Given the description of an element on the screen output the (x, y) to click on. 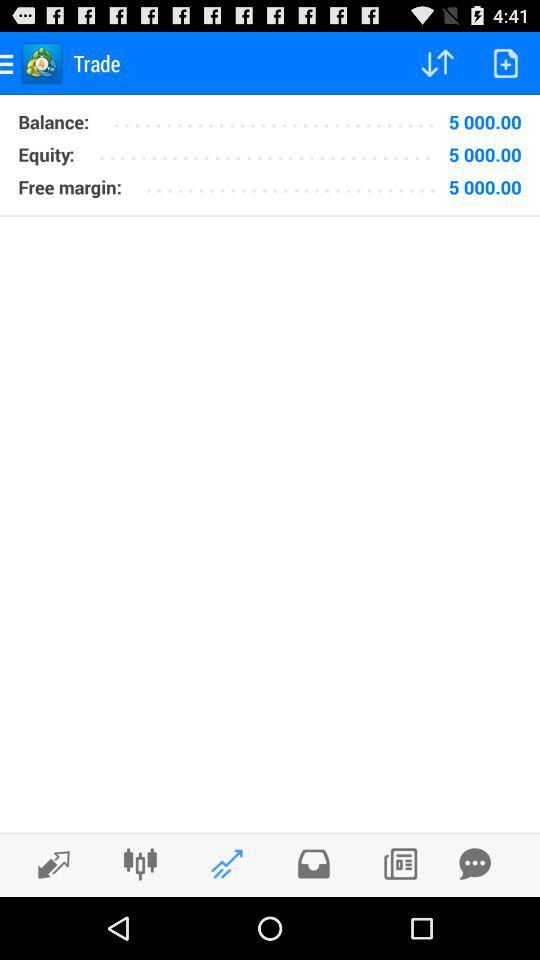
chat with trader (475, 864)
